Given the description of an element on the screen output the (x, y) to click on. 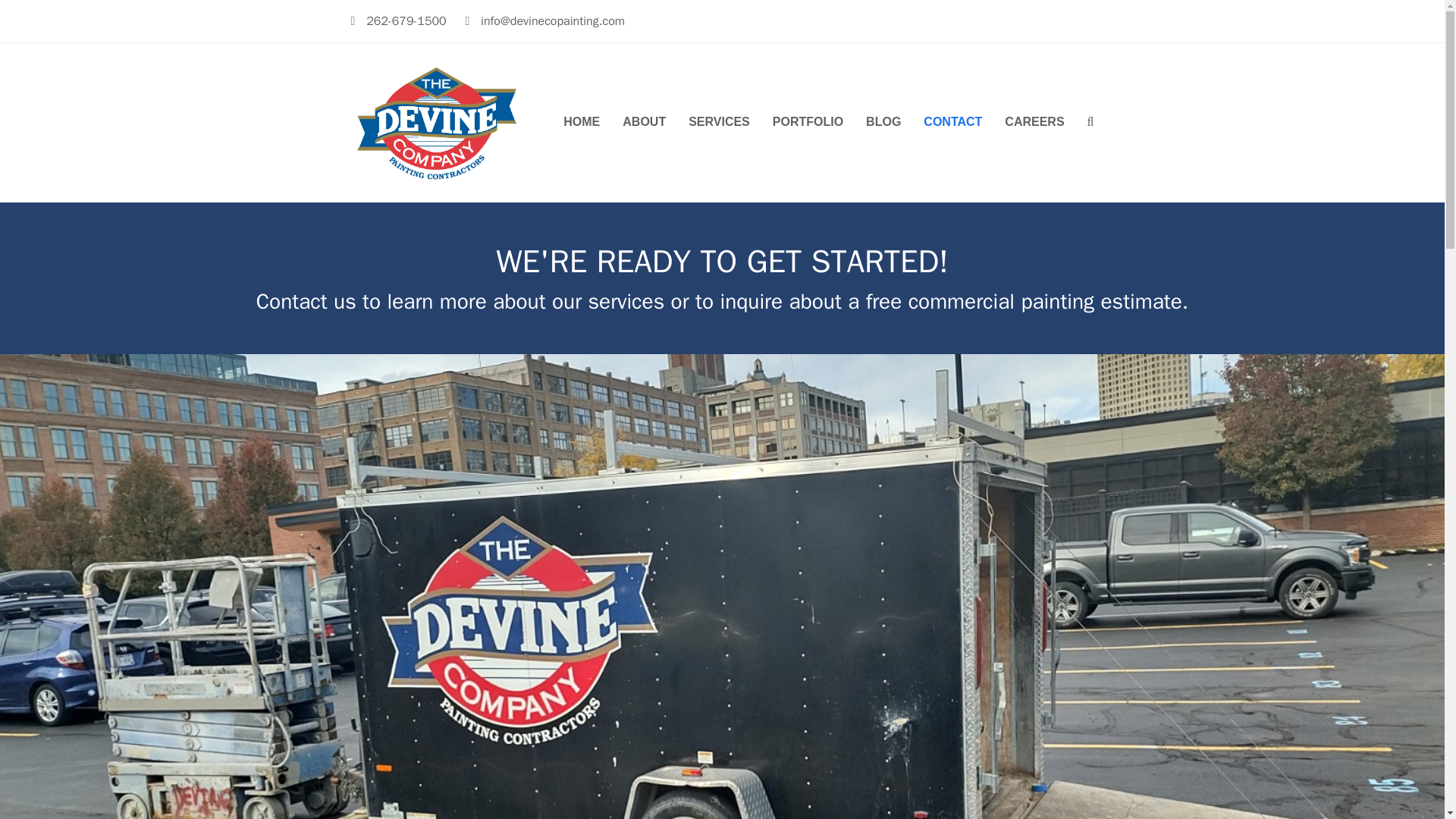
CAREERS (1033, 122)
CONTACT (952, 122)
HOME (581, 122)
BLOG (883, 122)
ABOUT (644, 122)
SERVICES (719, 122)
PORTFOLIO (807, 122)
